Given the description of an element on the screen output the (x, y) to click on. 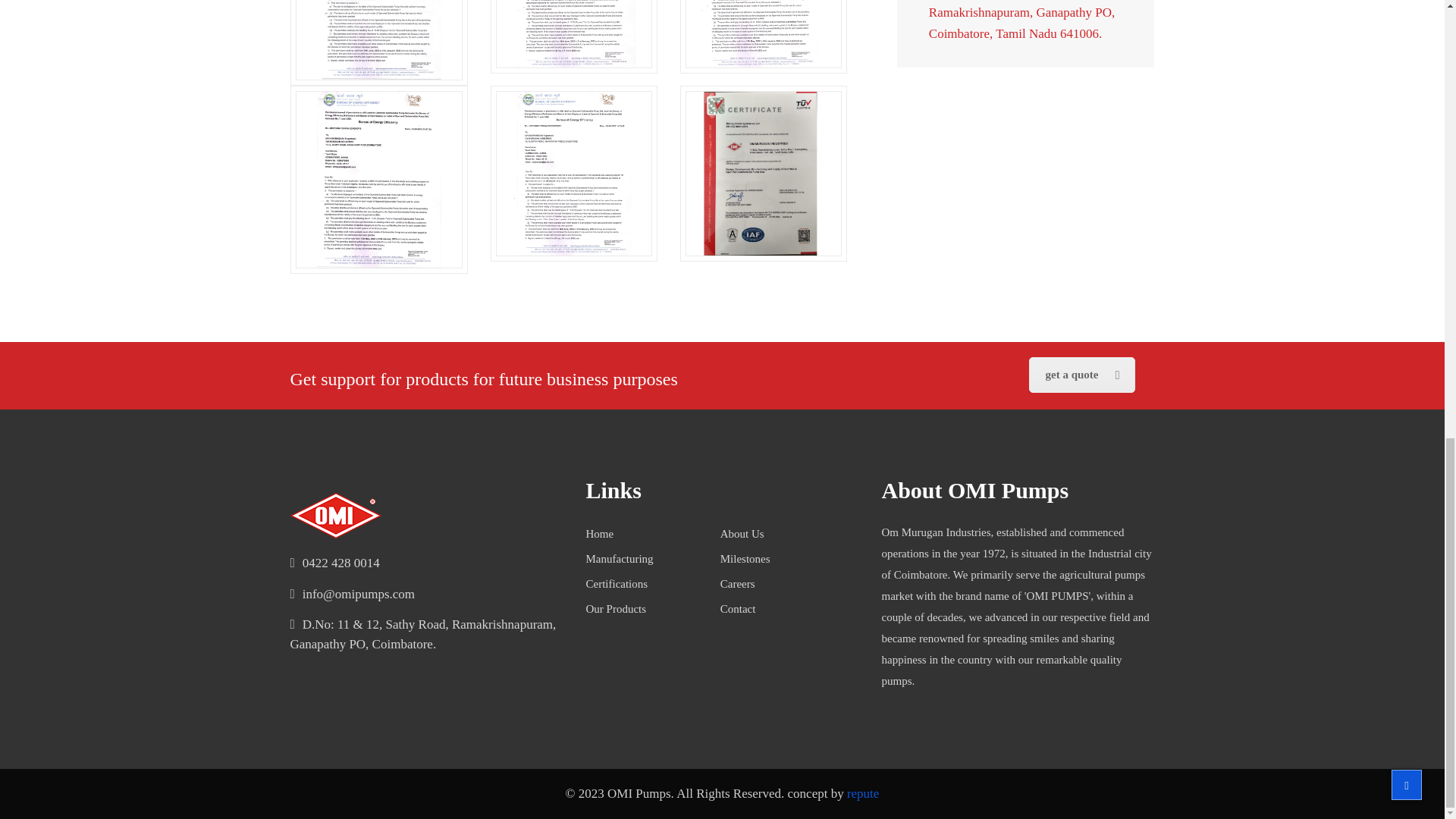
STAR-RATE--OW-OVO7265 (574, 173)
STAR-RATED--OW-OAHO350 (379, 40)
STAR-RATED-OW-OEHO565 (763, 33)
TUV-AUSTRIA--CERTIFICATE (763, 173)
STAR-RATED-OW-OAHO550 (574, 33)
STAR-RATE--OW--OVO5265 (379, 179)
